Given the description of an element on the screen output the (x, y) to click on. 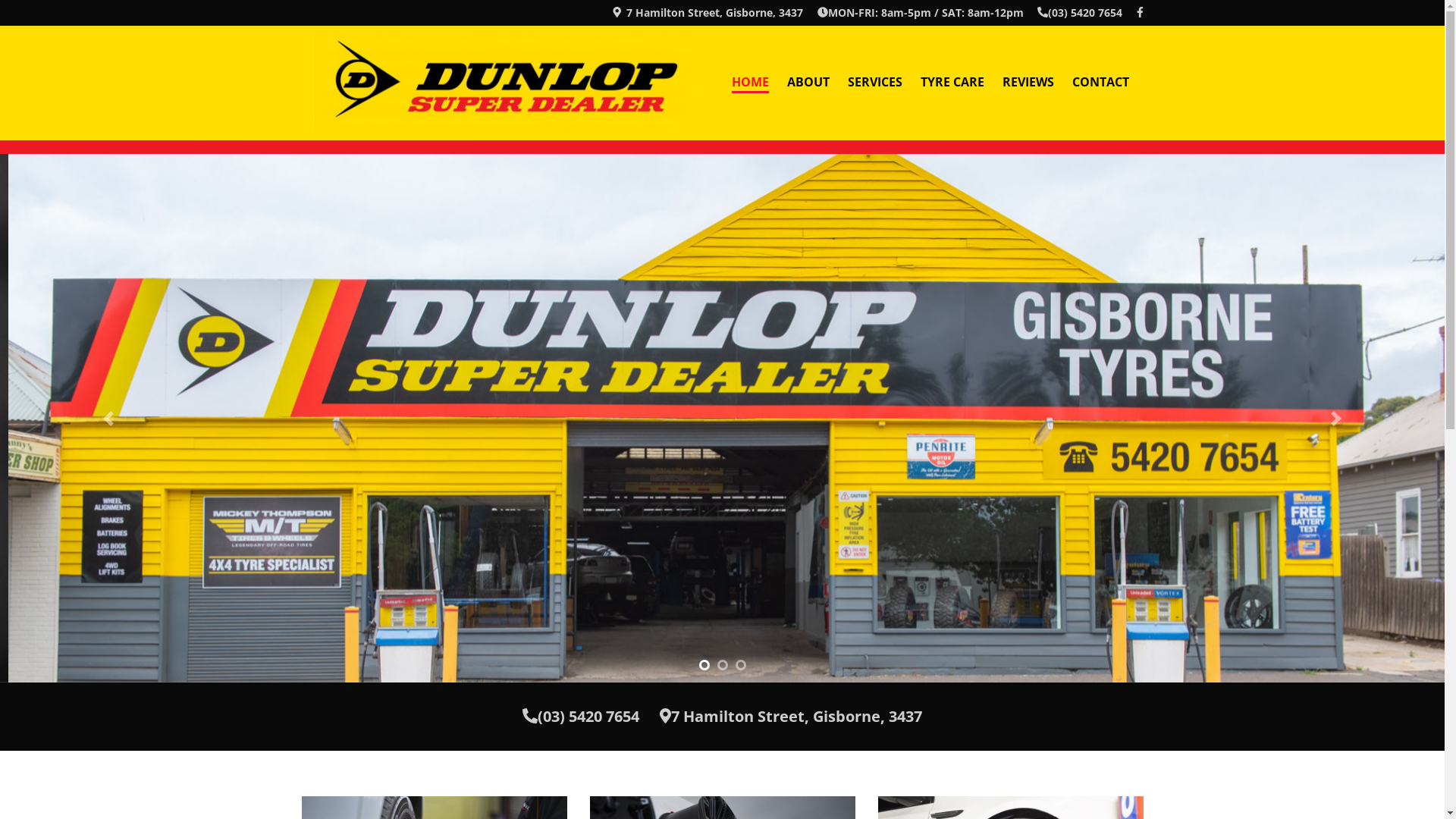
7 Hamilton Street, Gisborne, 3437 Element type: text (706, 12)
REVIEWS Element type: text (1028, 82)
Previous Element type: text (108, 417)
MON-FRI: 8am-5pm / SAT: 8am-12pm Element type: text (920, 12)
(03) 5420 7654 Element type: text (1079, 12)
SERVICES Element type: text (874, 82)
TYRE CARE Element type: text (952, 82)
ABOUT Element type: text (808, 82)
(03) 5420 7654 Element type: text (580, 716)
CONTACT Element type: text (1100, 82)
Next Element type: text (1335, 417)
HOME Element type: text (749, 82)
7 Hamilton Street, Gisborne, 3437 Element type: text (790, 716)
